Given the description of an element on the screen output the (x, y) to click on. 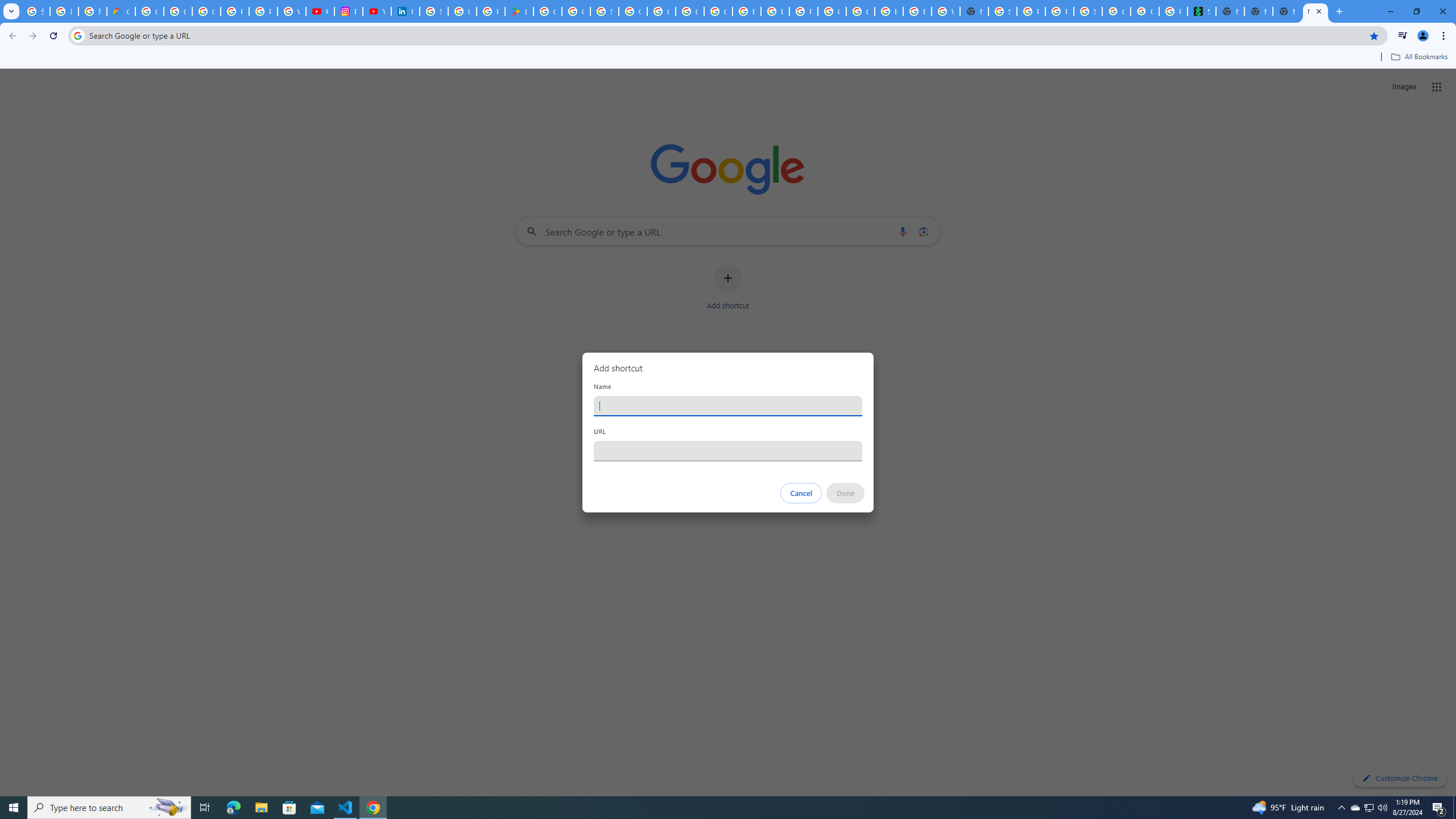
Sign in - Google Accounts (433, 11)
Name (727, 405)
Browse Chrome as a guest - Computer - Google Chrome Help (888, 11)
New Tab (973, 11)
Sign in - Google Accounts (604, 11)
YouTube Culture & Trends - On The Rise: Handcam Videos (377, 11)
